Given the description of an element on the screen output the (x, y) to click on. 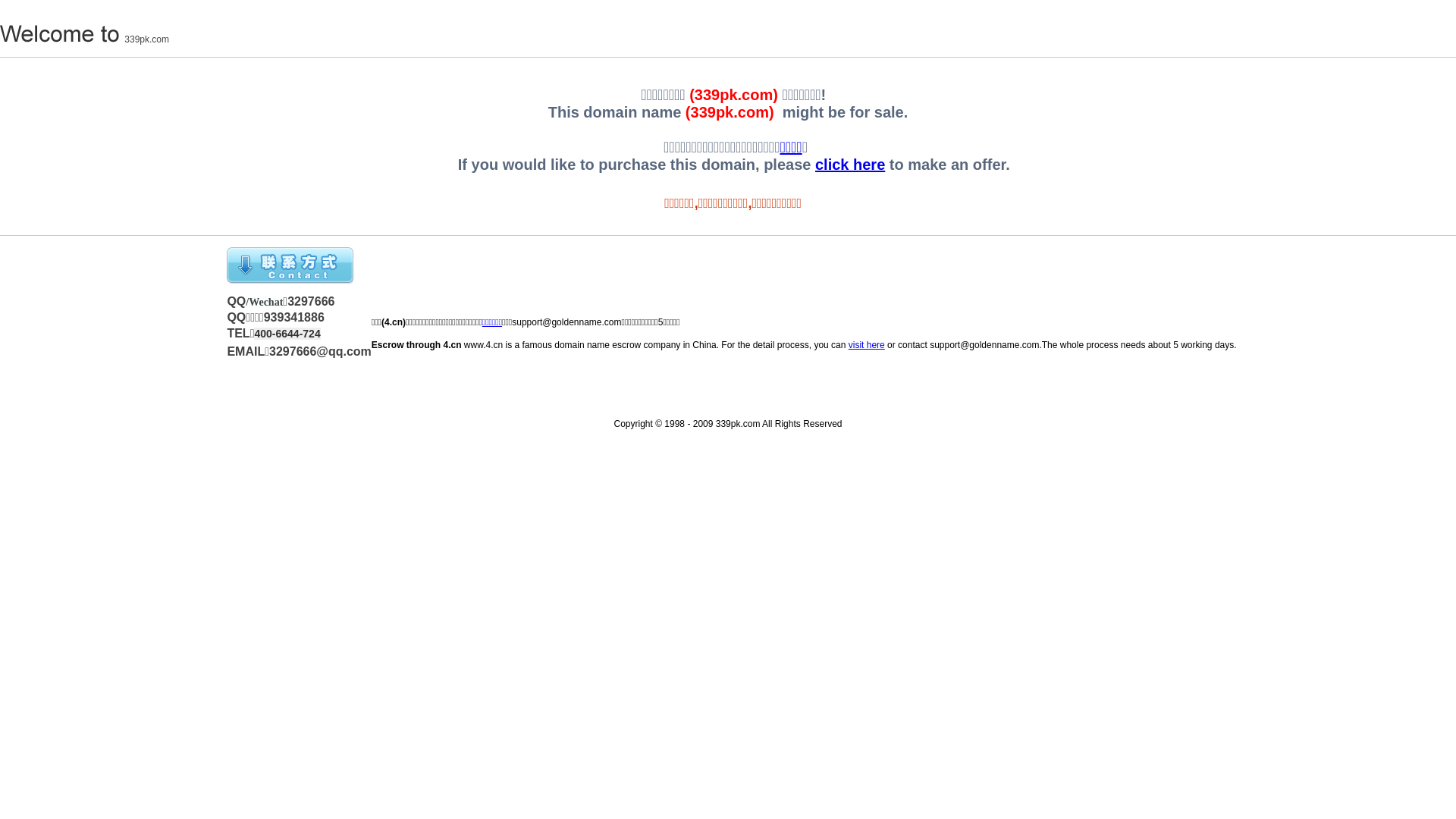
click here Element type: text (849, 164)
visit here Element type: text (866, 344)
